Given the description of an element on the screen output the (x, y) to click on. 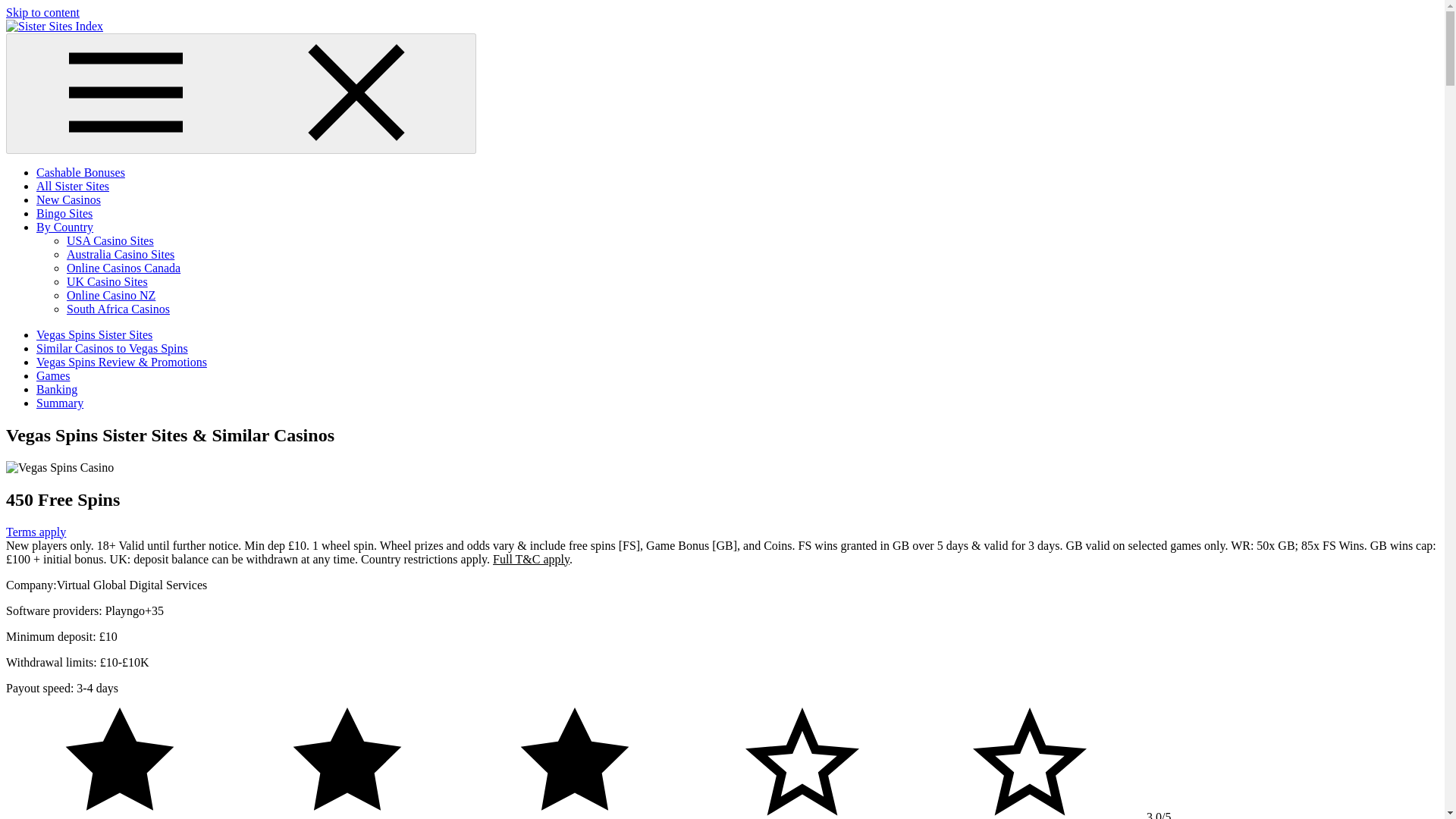
Banking (56, 389)
Vegas Spins Sister Sites (94, 334)
Australia Casino Sites (120, 254)
Online Casino NZ (110, 295)
Summary (59, 402)
Similar Casinos to Vegas Spins (111, 348)
By Country (64, 226)
South Africa Casinos (118, 308)
Skip to content (42, 11)
USA Casino Sites (110, 240)
Terms apply (35, 531)
Bingo Sites (64, 213)
Games (52, 375)
New Casinos (68, 199)
UK Casino Sites (107, 281)
